Given the description of an element on the screen output the (x, y) to click on. 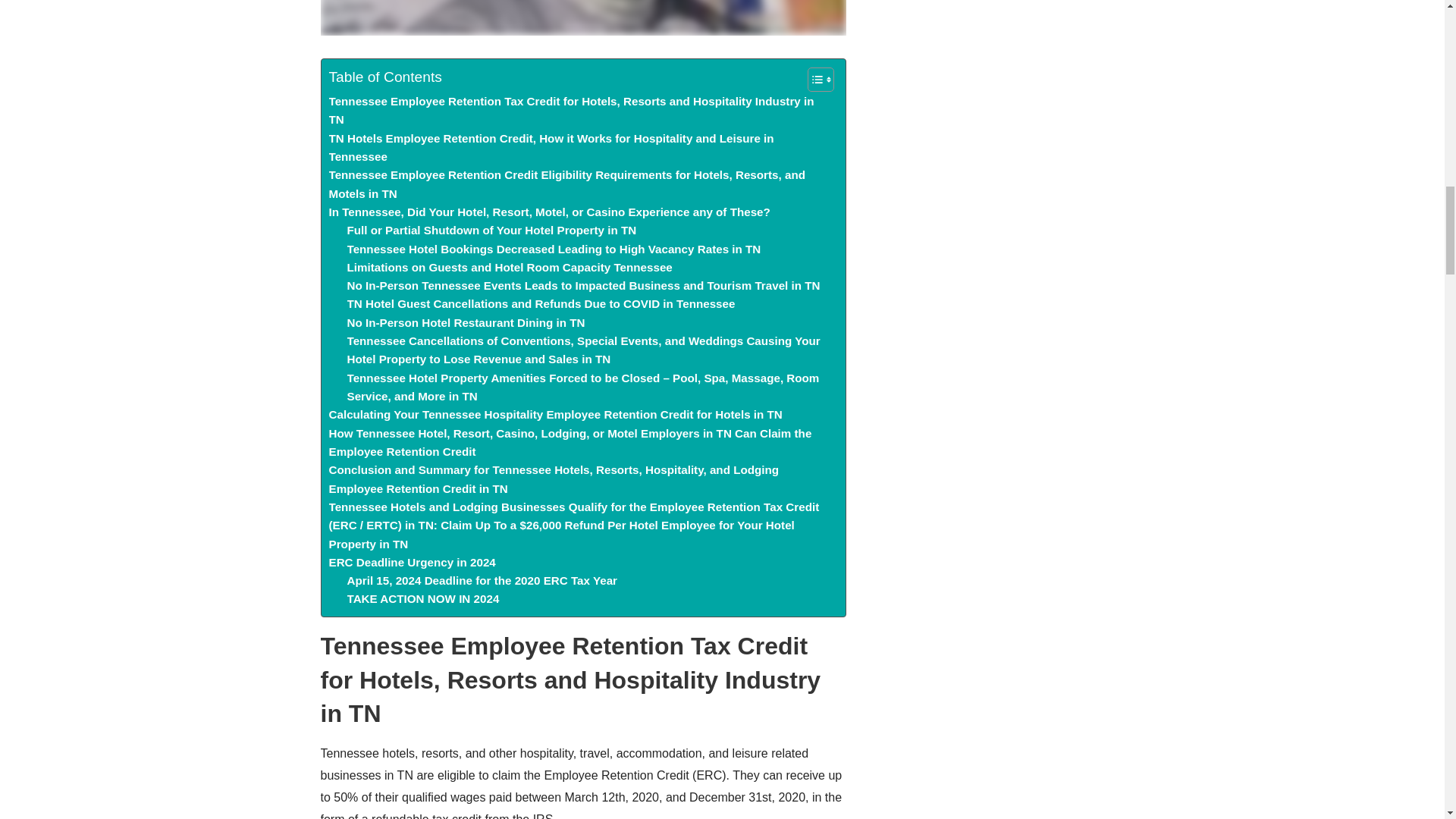
April 15, 2024 Deadline for the 2020 ERC Tax Year (482, 580)
Full or Partial Shutdown of Your Hotel Property in TN (492, 230)
ERC Deadline Urgency in 2024 (412, 562)
TAKE ACTION NOW IN 2024 (423, 598)
